Given the description of an element on the screen output the (x, y) to click on. 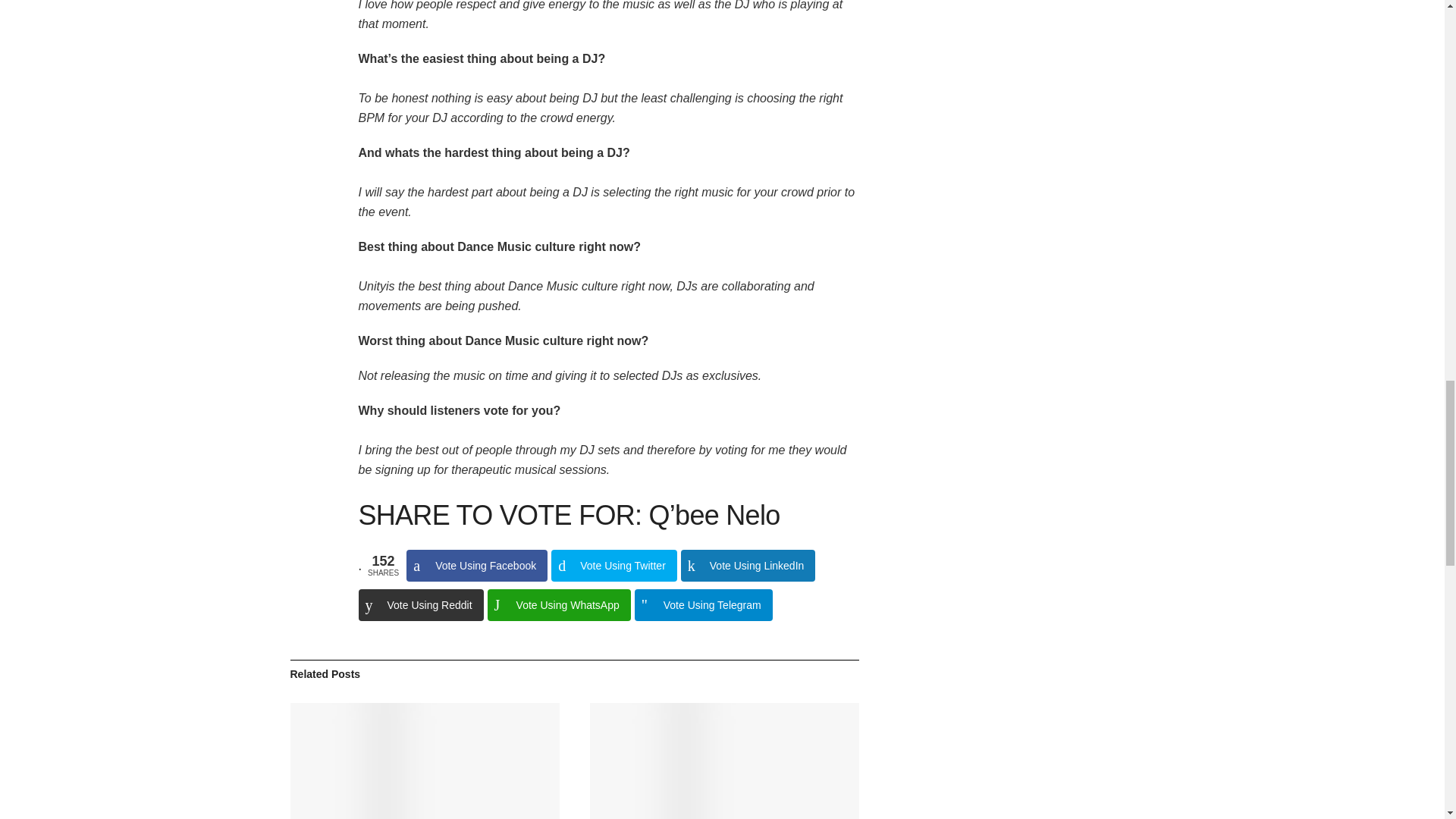
Share on Vote Using Facebook (476, 565)
Share on Vote Using WhatsApp (558, 604)
Share on Vote Using Telegram (703, 604)
Share on Vote Using Twitter (614, 565)
Share on Vote Using Reddit (420, 604)
Share on Vote Using LinkedIn (748, 565)
